Given the description of an element on the screen output the (x, y) to click on. 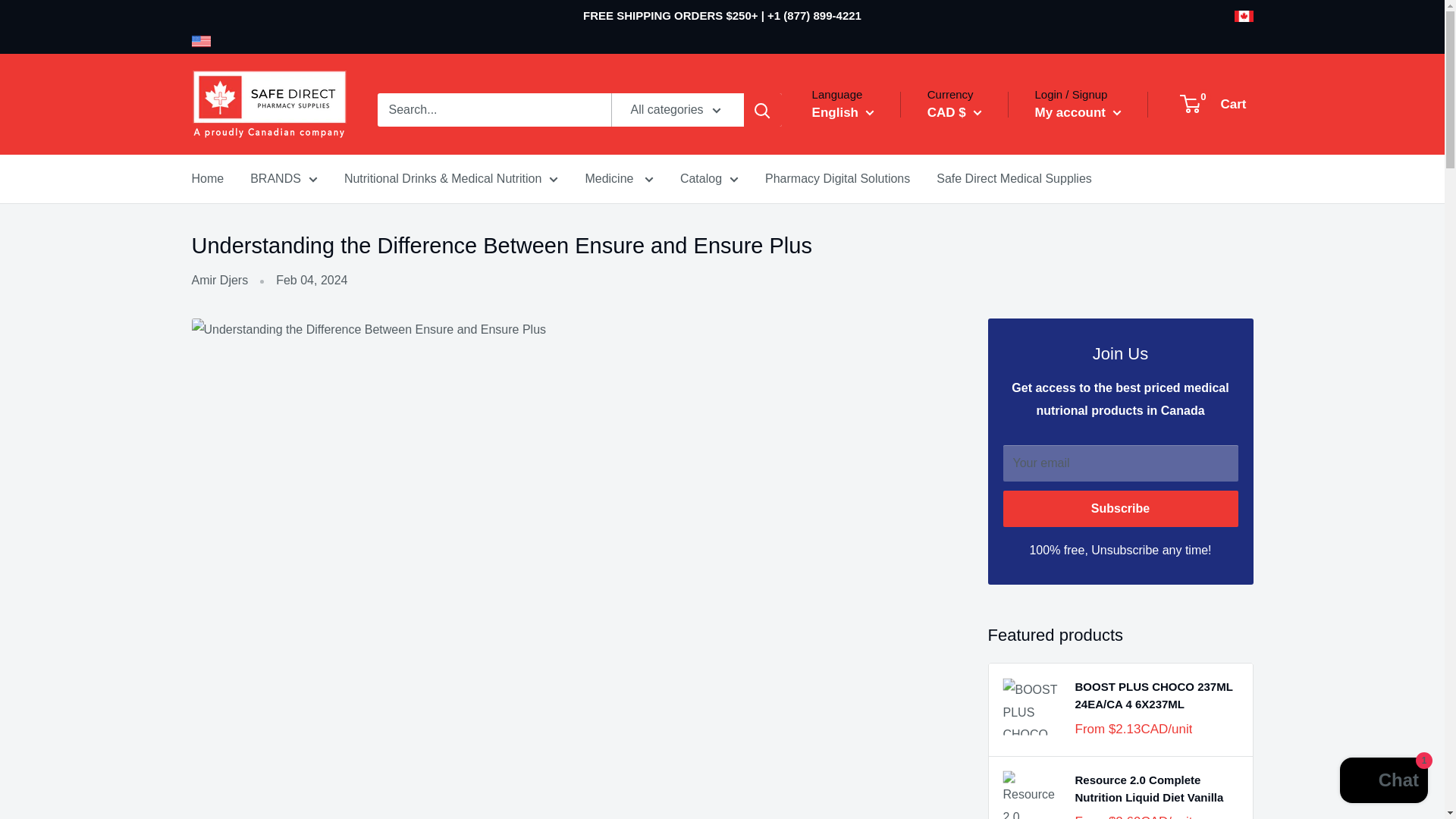
Shopify online store chat (1383, 781)
